Given the description of an element on the screen output the (x, y) to click on. 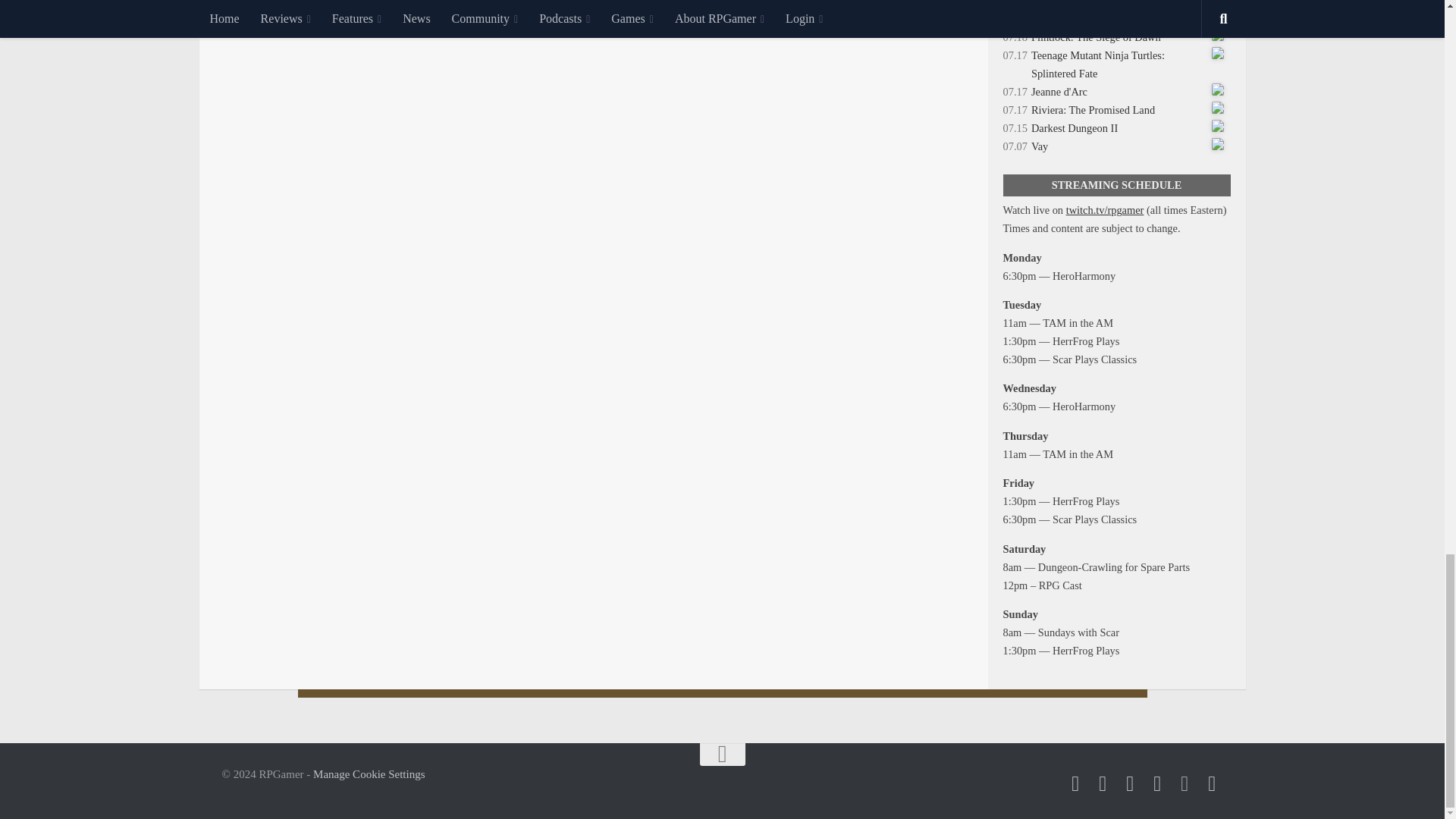
Follow us on Facebook (1102, 783)
Follow us on Discord (1184, 783)
Follow us on Twitch (1157, 783)
Follow us on Twitter (1075, 783)
Follow us on Youtube (1129, 783)
